Given the description of an element on the screen output the (x, y) to click on. 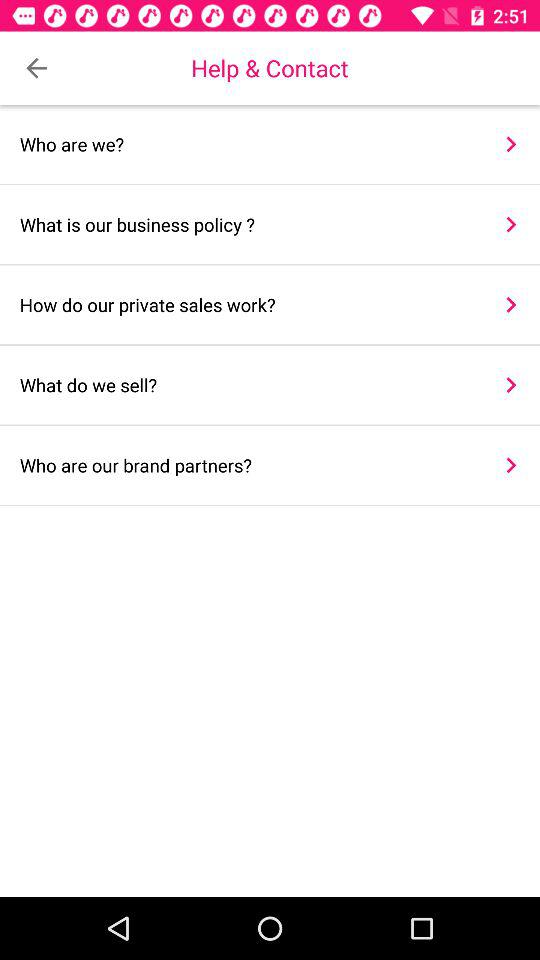
jump to what do we item (247, 384)
